Given the description of an element on the screen output the (x, y) to click on. 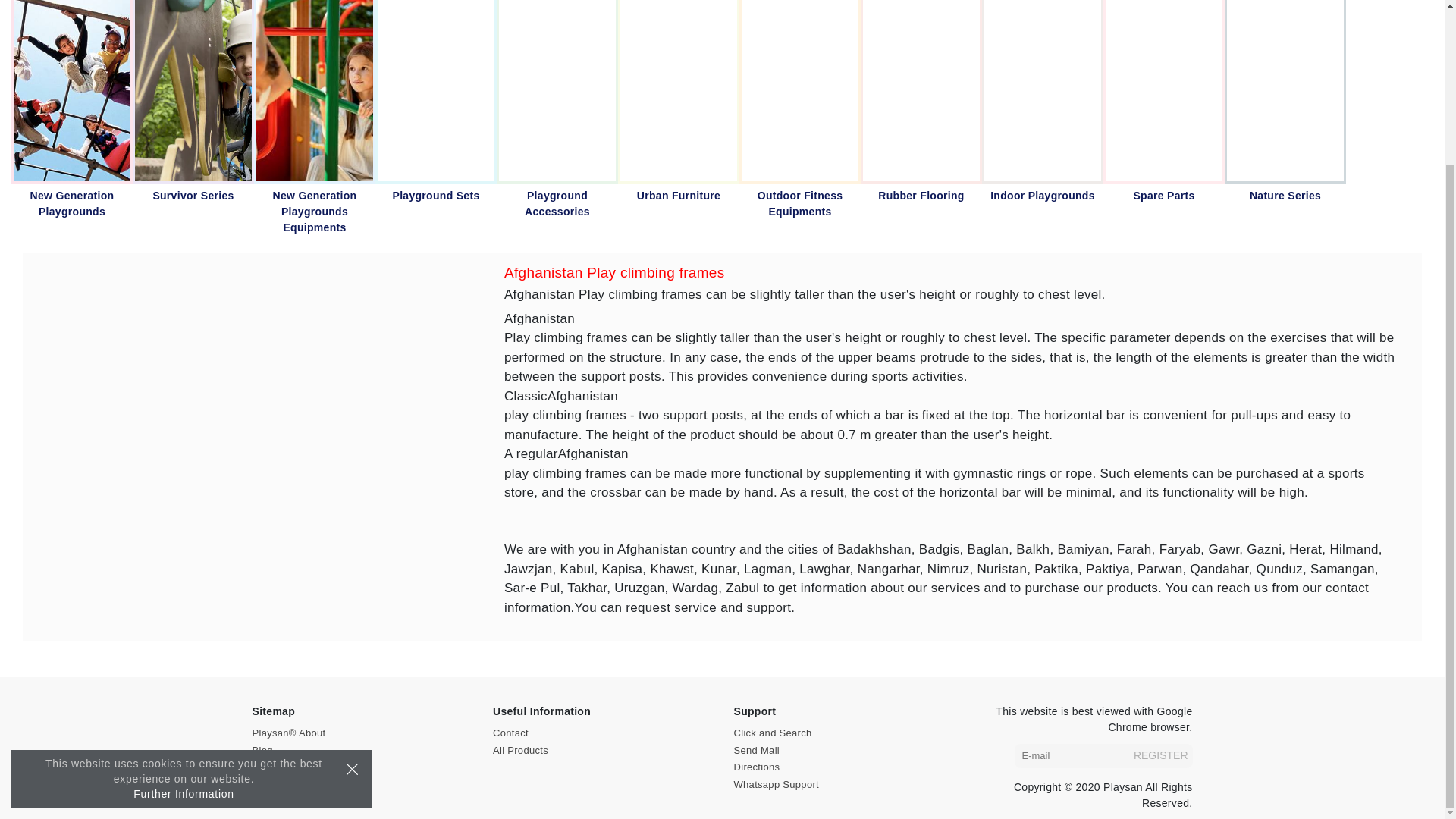
Blog (261, 749)
Contact (510, 732)
Announcements (288, 767)
Whatsapp Support (775, 784)
Directions (756, 767)
Services (271, 784)
Further Information (182, 597)
All Products (520, 749)
REGISTER (1160, 755)
Click and Search (772, 732)
